Given the description of an element on the screen output the (x, y) to click on. 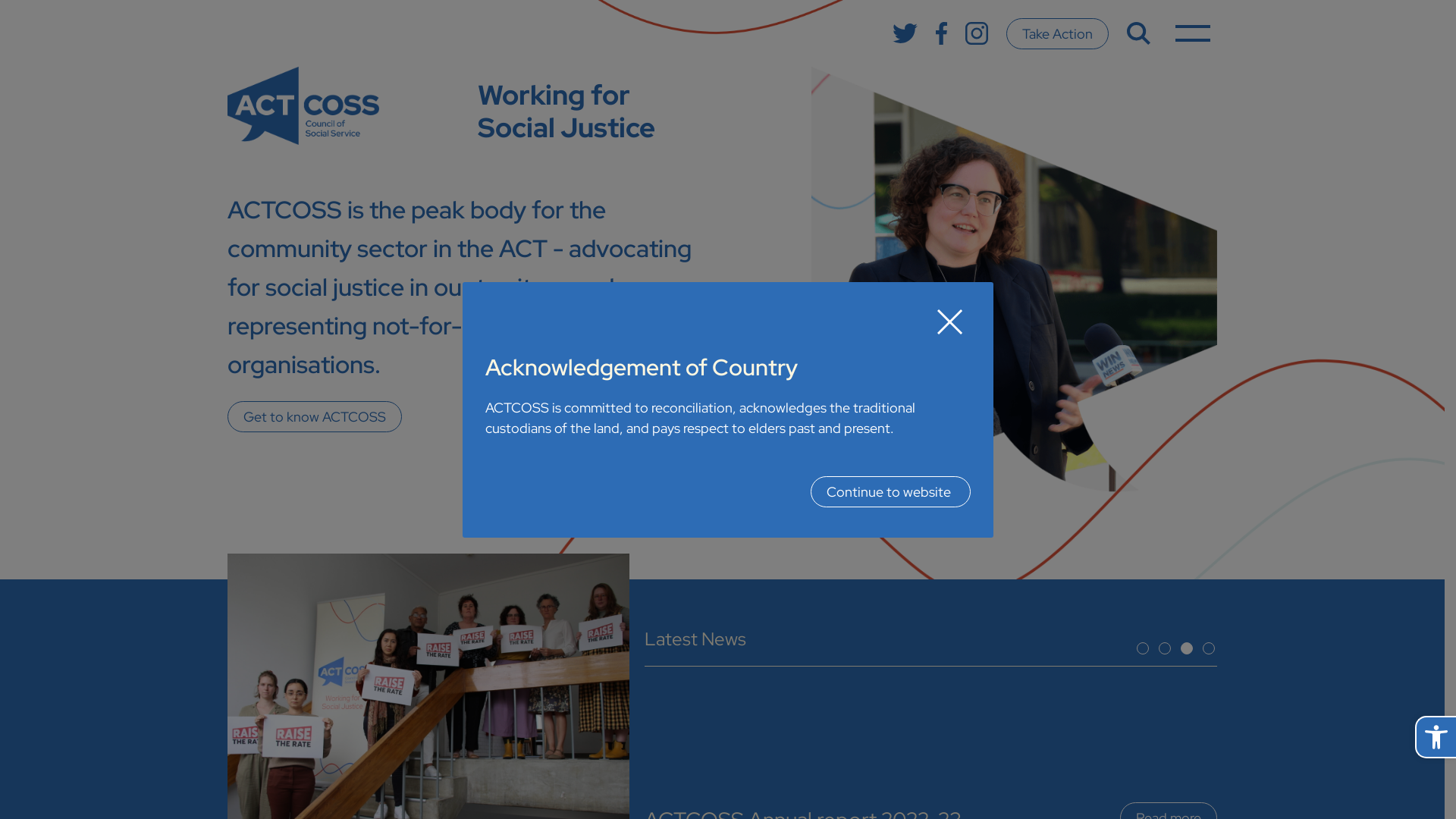
Take Action Element type: text (1057, 33)
Continue to website Element type: text (890, 491)
Get to know ACTCOSS Element type: text (314, 416)
